Given the description of an element on the screen output the (x, y) to click on. 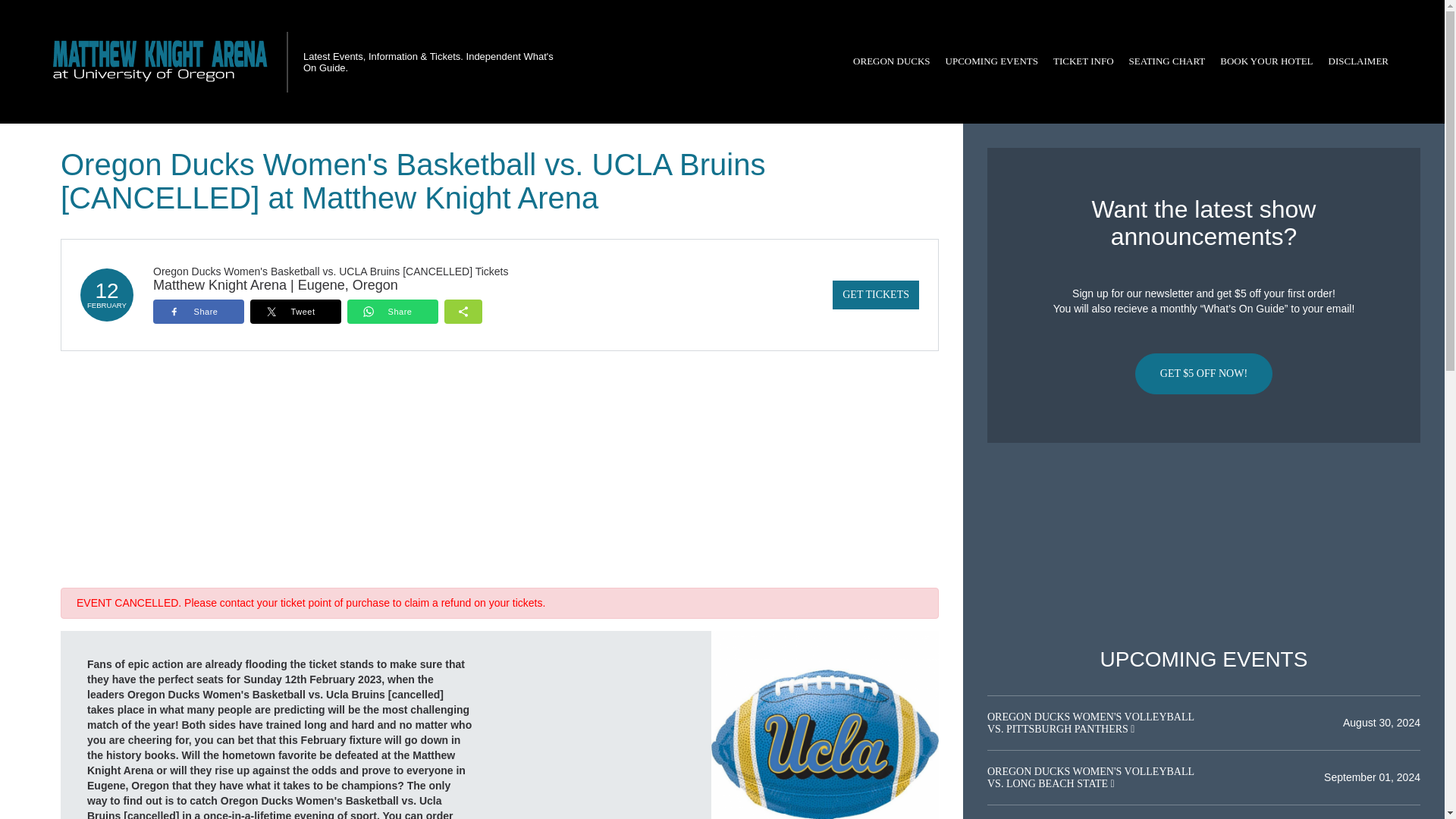
Advertisement (1204, 545)
SEATING CHART (1166, 61)
DISCLAIMER (1358, 61)
UPCOMING EVENTS (991, 61)
BOOK YOUR HOTEL (1266, 61)
OREGON DUCKS (891, 61)
TICKET INFO (1083, 61)
GET TICKETS (875, 294)
